Given the description of an element on the screen output the (x, y) to click on. 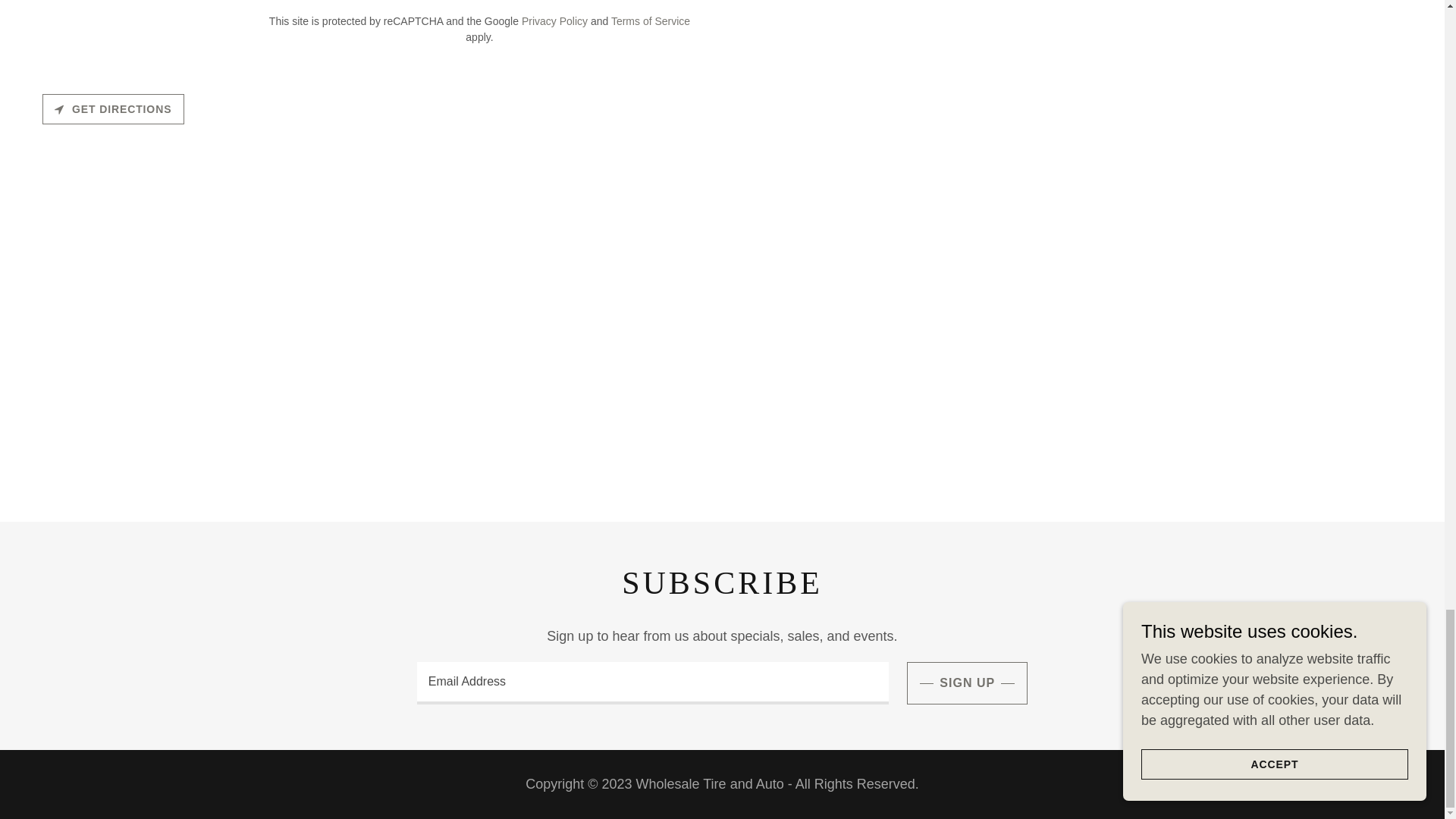
GET DIRECTIONS (113, 109)
SIGN UP (967, 682)
Privacy Policy (554, 21)
Terms of Service (650, 21)
